Given the description of an element on the screen output the (x, y) to click on. 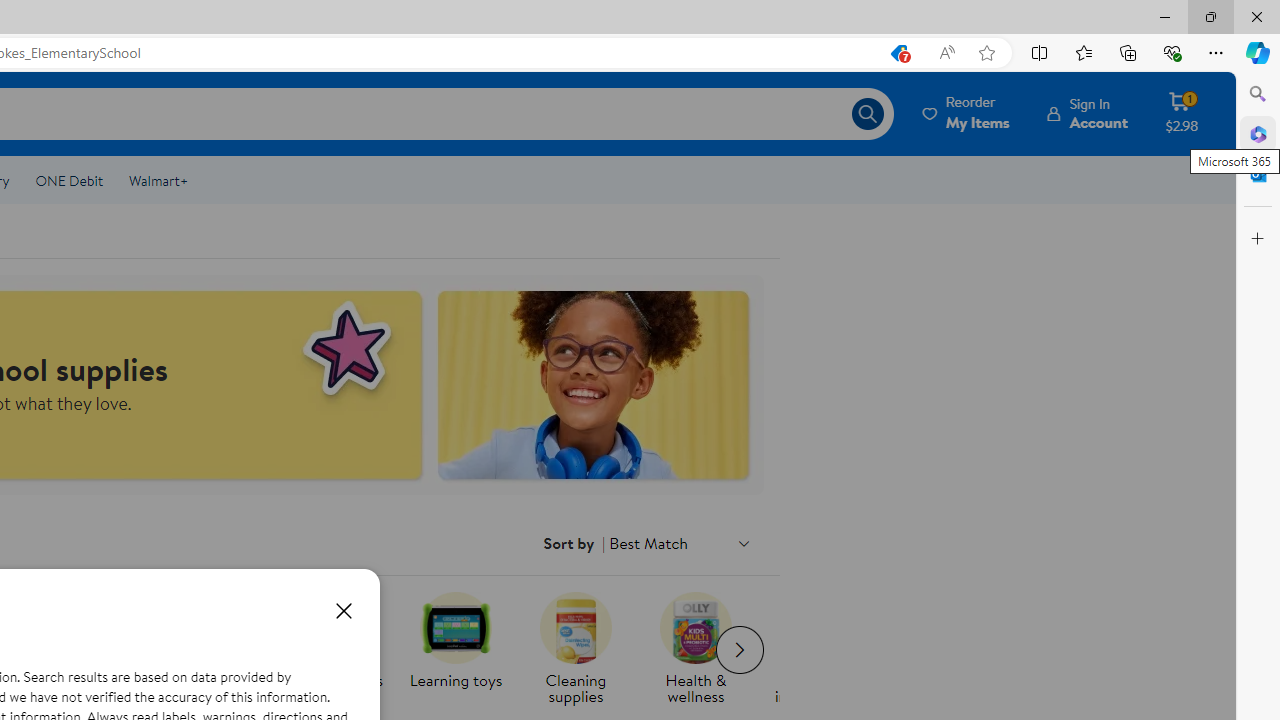
Close dialog (343, 610)
